Given the description of an element on the screen output the (x, y) to click on. 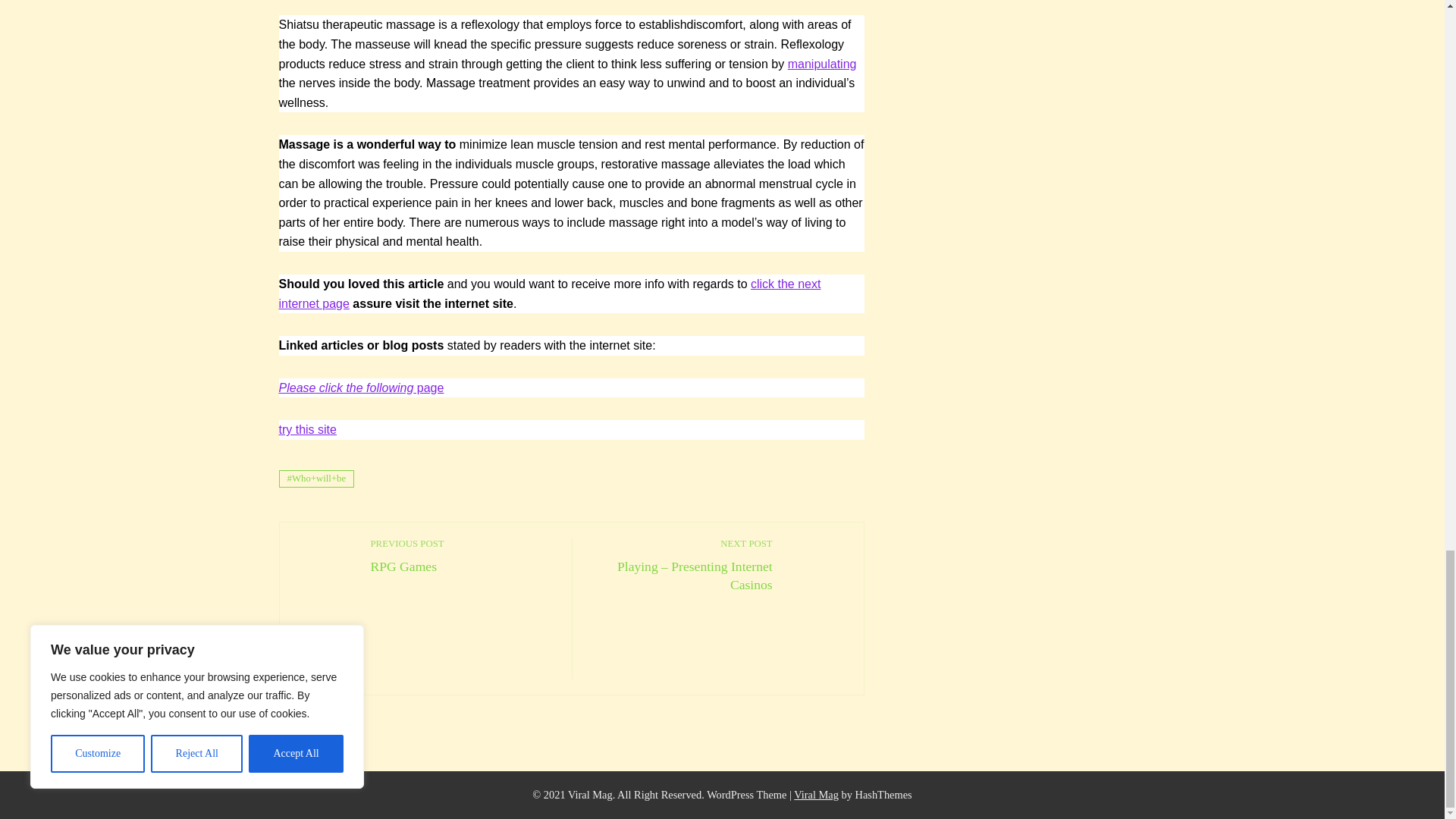
Download Viral News (462, 555)
manipulating (815, 794)
Please click the following page (822, 63)
click the next internet page (361, 387)
try this site (550, 293)
